Given the description of an element on the screen output the (x, y) to click on. 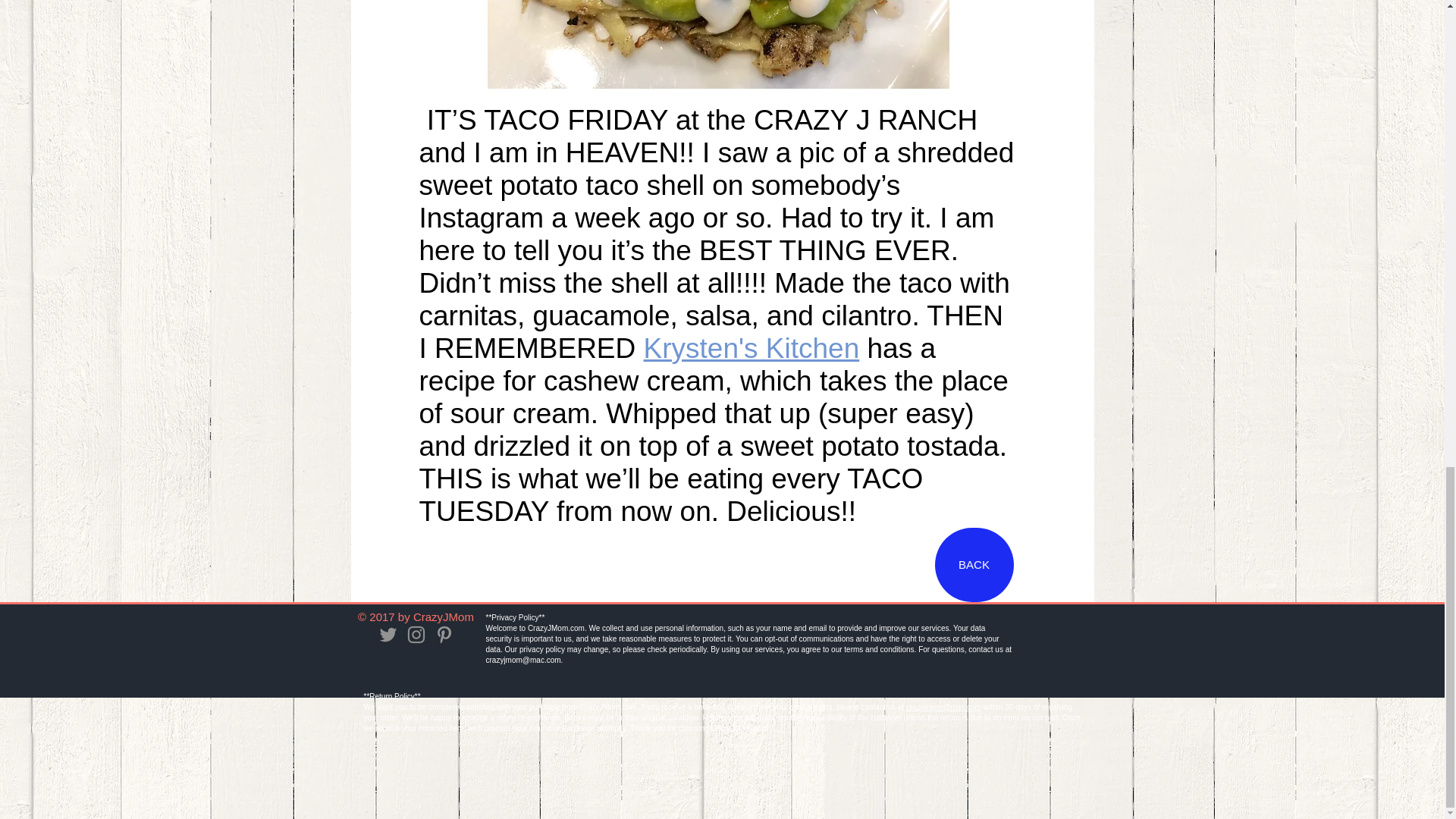
Krysten's Kitchen  (755, 347)
BACK (973, 564)
